Given the description of an element on the screen output the (x, y) to click on. 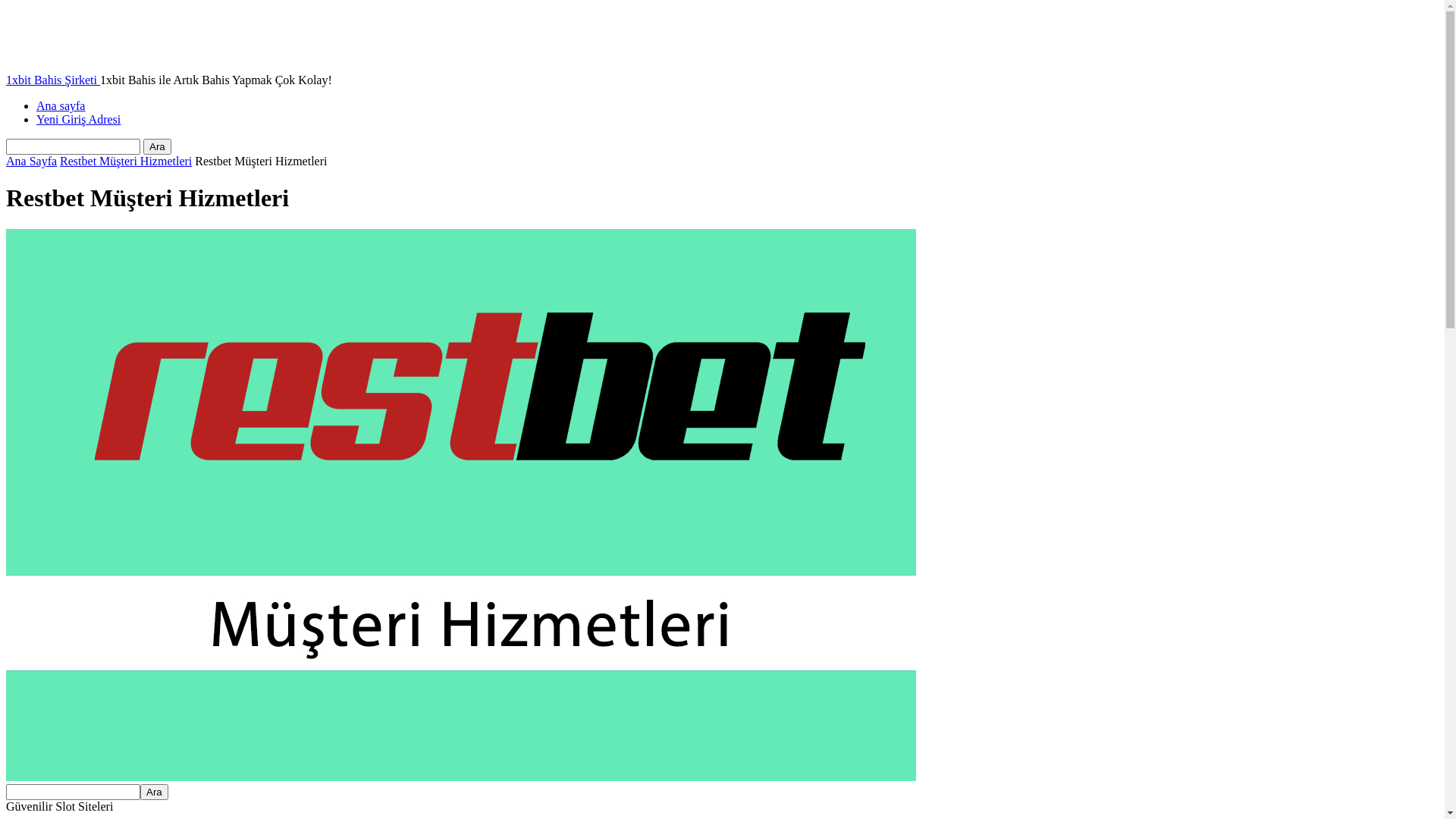
Ana sayfa Element type: text (60, 105)
Ara Element type: text (157, 146)
Ara Element type: text (154, 792)
Ana Sayfa Element type: text (31, 160)
